Given the description of an element on the screen output the (x, y) to click on. 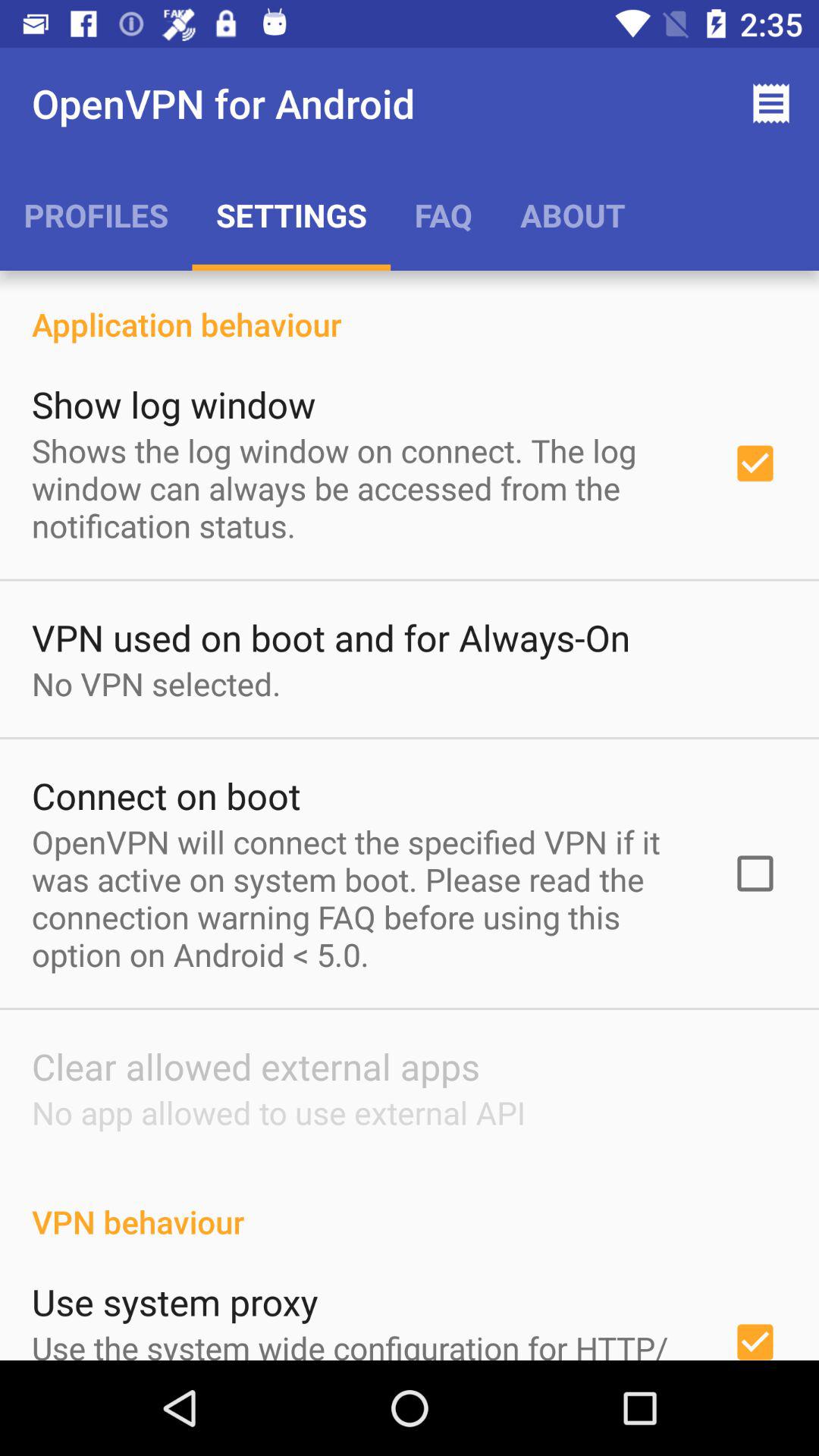
tap the shows the log icon (361, 487)
